Given the description of an element on the screen output the (x, y) to click on. 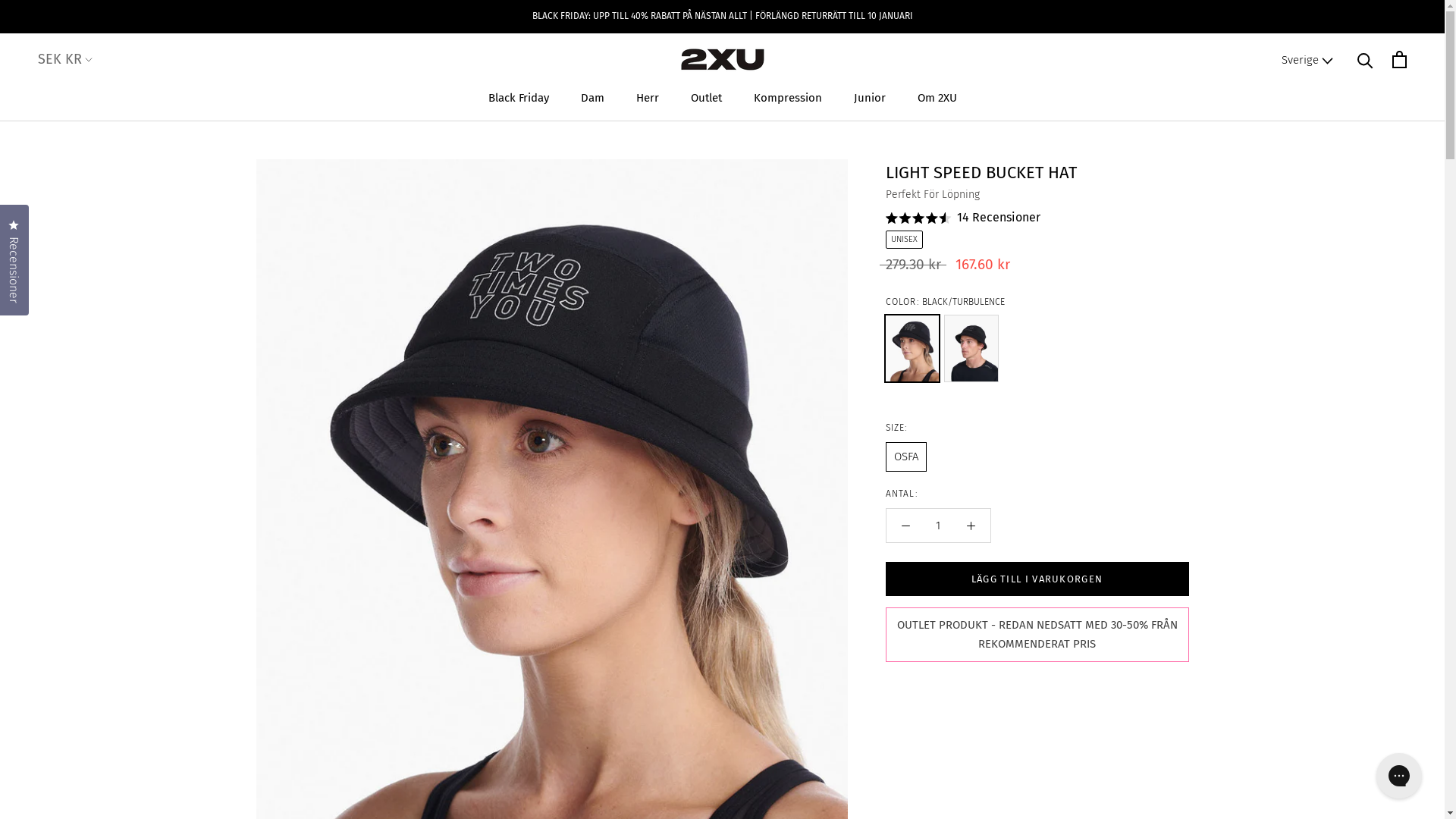
Herr
Herr Element type: text (646, 97)
Outlet
Outlet Element type: text (705, 97)
DKK Element type: text (77, 97)
EUR Element type: text (77, 121)
Kompression
Kompression Element type: text (787, 97)
SEK Element type: text (77, 169)
NOK Element type: text (77, 145)
Junior
Junior Element type: text (869, 97)
Dam
Dam Element type: text (592, 97)
Gorgias live chat messenger Element type: hover (1398, 775)
Om 2XU
Om 2XU Element type: text (937, 97)
SEK KR Element type: text (66, 59)
Black Friday
Black Friday Element type: text (518, 97)
Sverige Element type: text (1307, 59)
BLACK/TURBULENCE Element type: hover (911, 348)
BLACK/BLACK Element type: hover (970, 348)
